Given the description of an element on the screen output the (x, y) to click on. 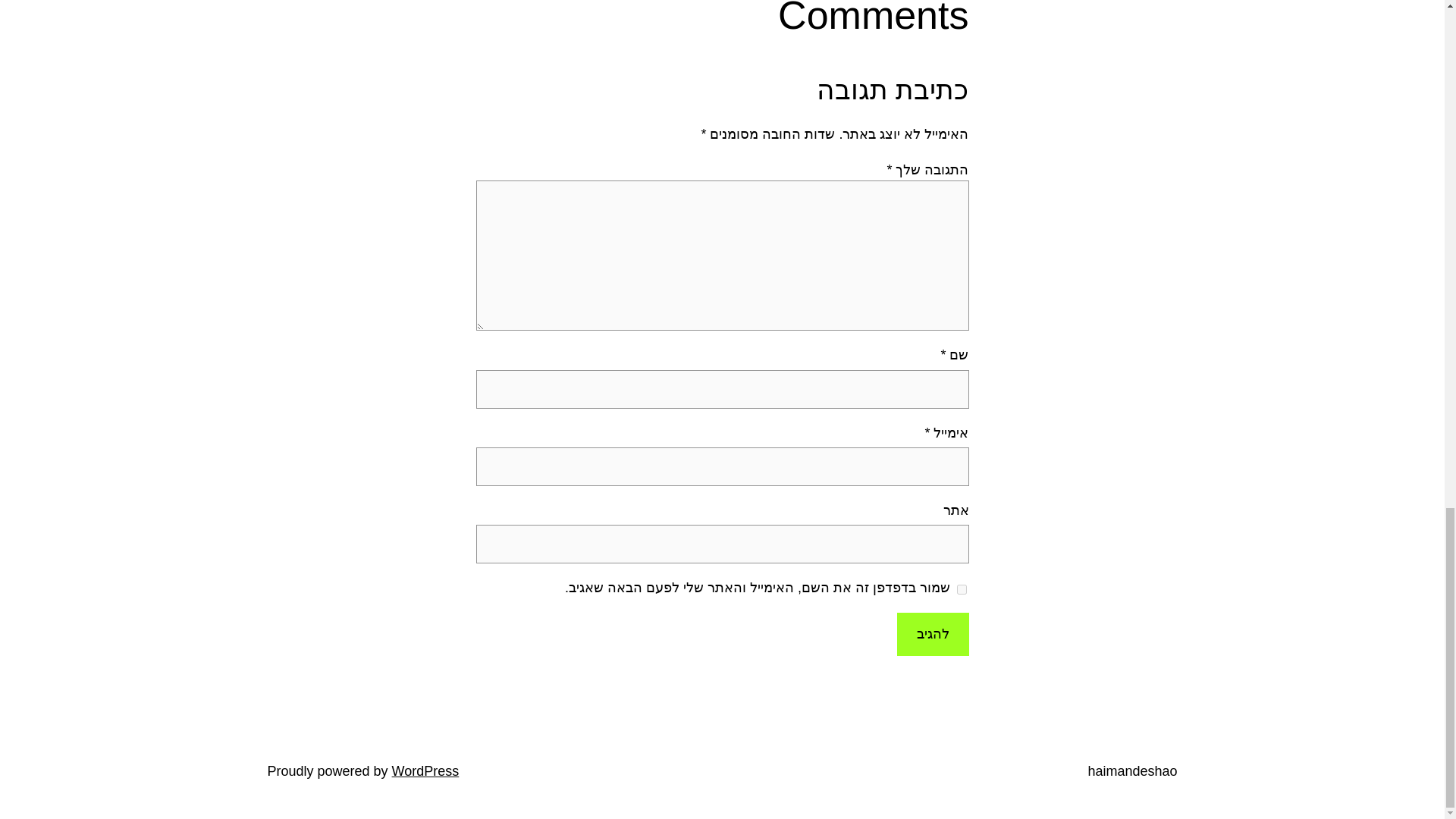
WordPress (425, 770)
haimandeshao (1131, 770)
